Given the description of an element on the screen output the (x, y) to click on. 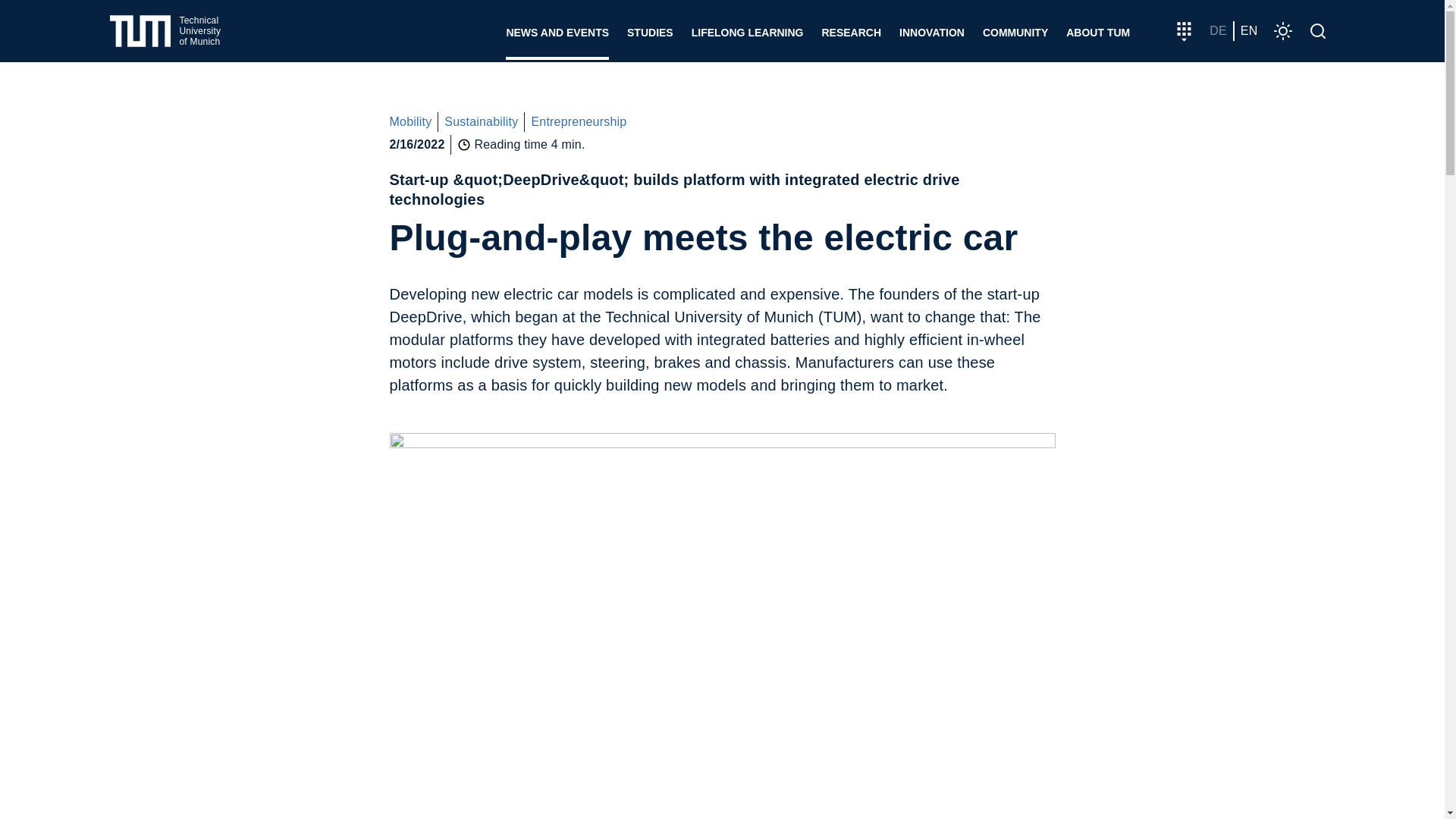
NEWS AND EVENTS (556, 30)
Technical University of Munich - Home (165, 31)
